Given the description of an element on the screen output the (x, y) to click on. 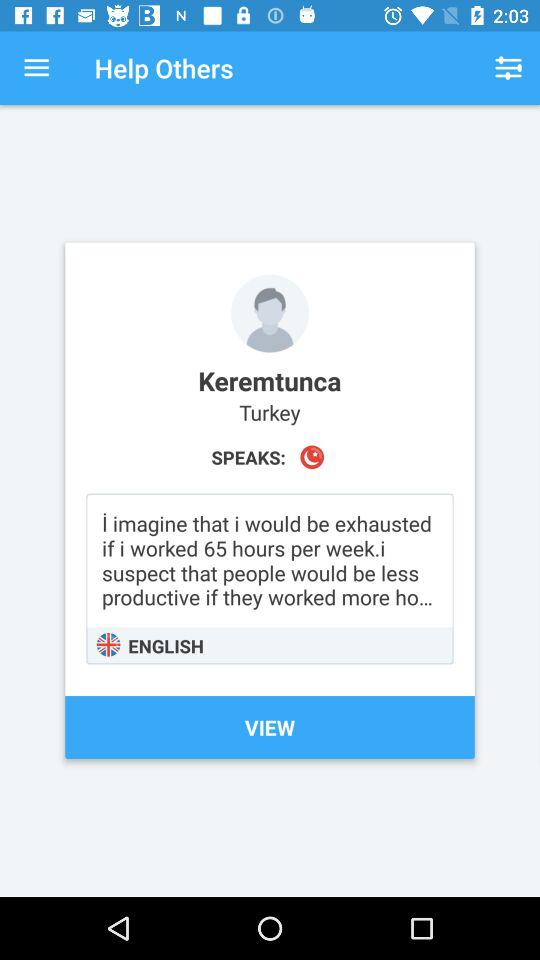
change your picture (269, 313)
